Given the description of an element on the screen output the (x, y) to click on. 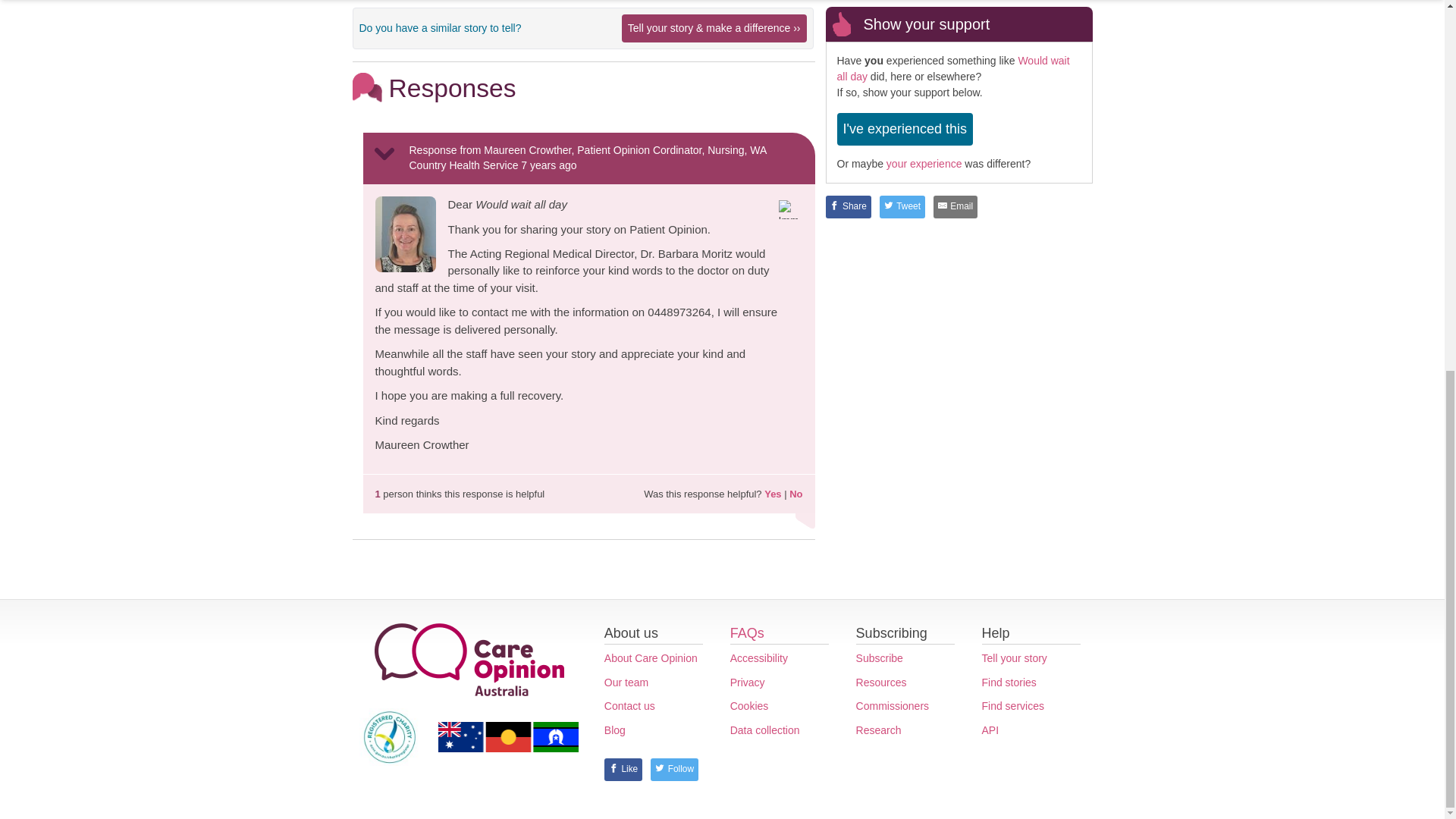
Australian Charities and Not-for-profits Commission (389, 736)
Care Opinion proudly supports reconciliation (508, 736)
